Given the description of an element on the screen output the (x, y) to click on. 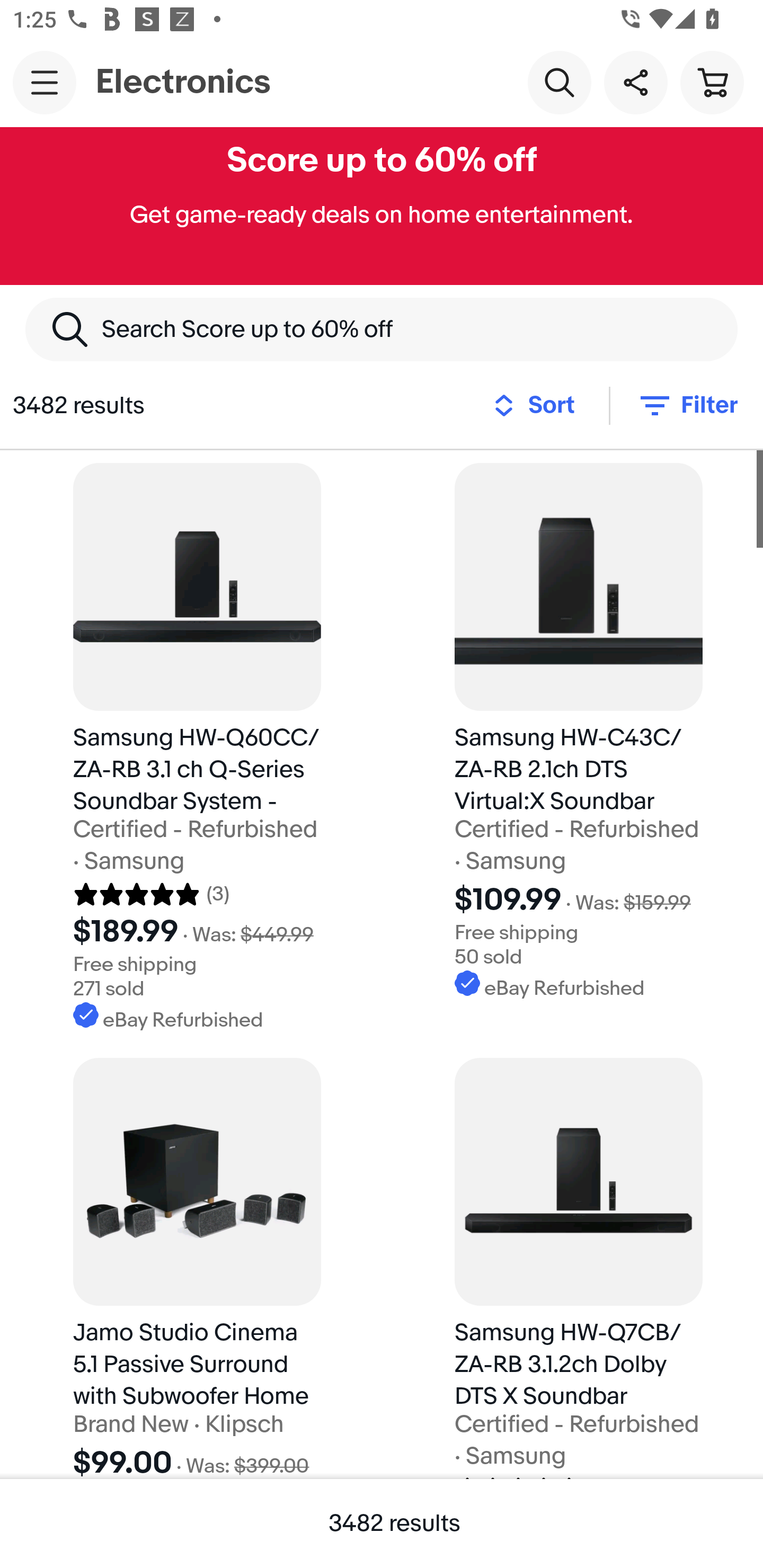
Main navigation, open (44, 82)
Search (559, 81)
Share this page (635, 81)
Cart button shopping cart (711, 81)
Search Score up to 60% off (381, 328)
Sort (538, 405)
Filter (686, 405)
